Given the description of an element on the screen output the (x, y) to click on. 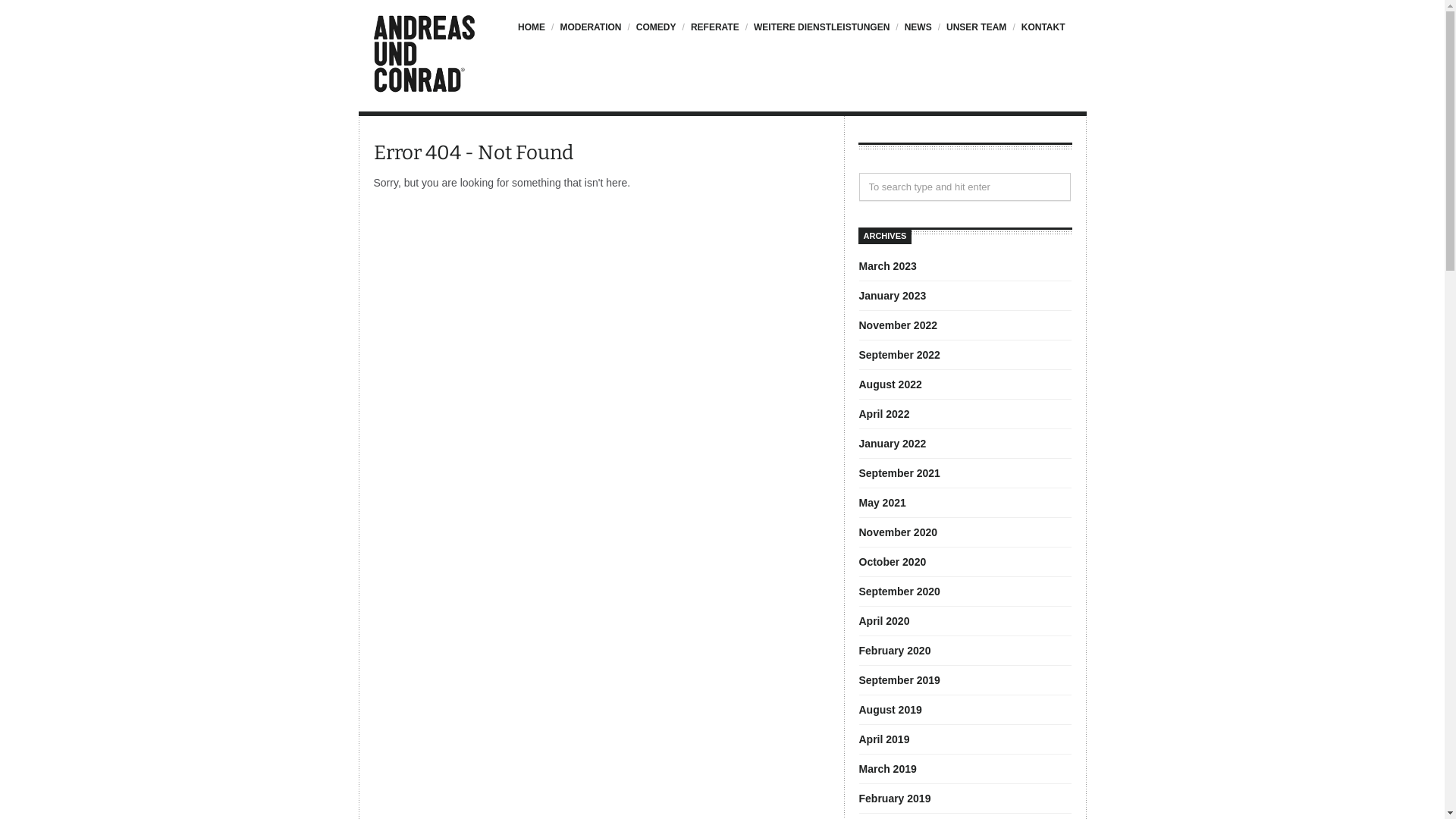
September 2021 Element type: text (898, 473)
September 2020 Element type: text (898, 591)
April 2019 Element type: text (883, 739)
KONTAKT Element type: text (1041, 34)
January 2023 Element type: text (891, 295)
REFERATE Element type: text (713, 34)
COMEDY Element type: text (654, 34)
March 2023 Element type: text (887, 266)
November 2020 Element type: text (897, 532)
April 2020 Element type: text (883, 621)
NEWS Element type: text (916, 34)
August 2022 Element type: text (889, 384)
February 2019 Element type: text (894, 798)
January 2022 Element type: text (891, 443)
August 2019 Element type: text (889, 709)
February 2020 Element type: text (894, 650)
April 2022 Element type: text (883, 413)
UNSER TEAM Element type: text (975, 34)
September 2019 Element type: text (898, 680)
HOME Element type: text (534, 34)
November 2022 Element type: text (897, 325)
March 2019 Element type: text (887, 768)
October 2020 Element type: text (891, 561)
May 2021 Element type: text (881, 502)
WEITERE DIENSTLEISTUNGEN Element type: text (820, 34)
MODERATION Element type: text (589, 34)
September 2022 Element type: text (898, 354)
